Given the description of an element on the screen output the (x, y) to click on. 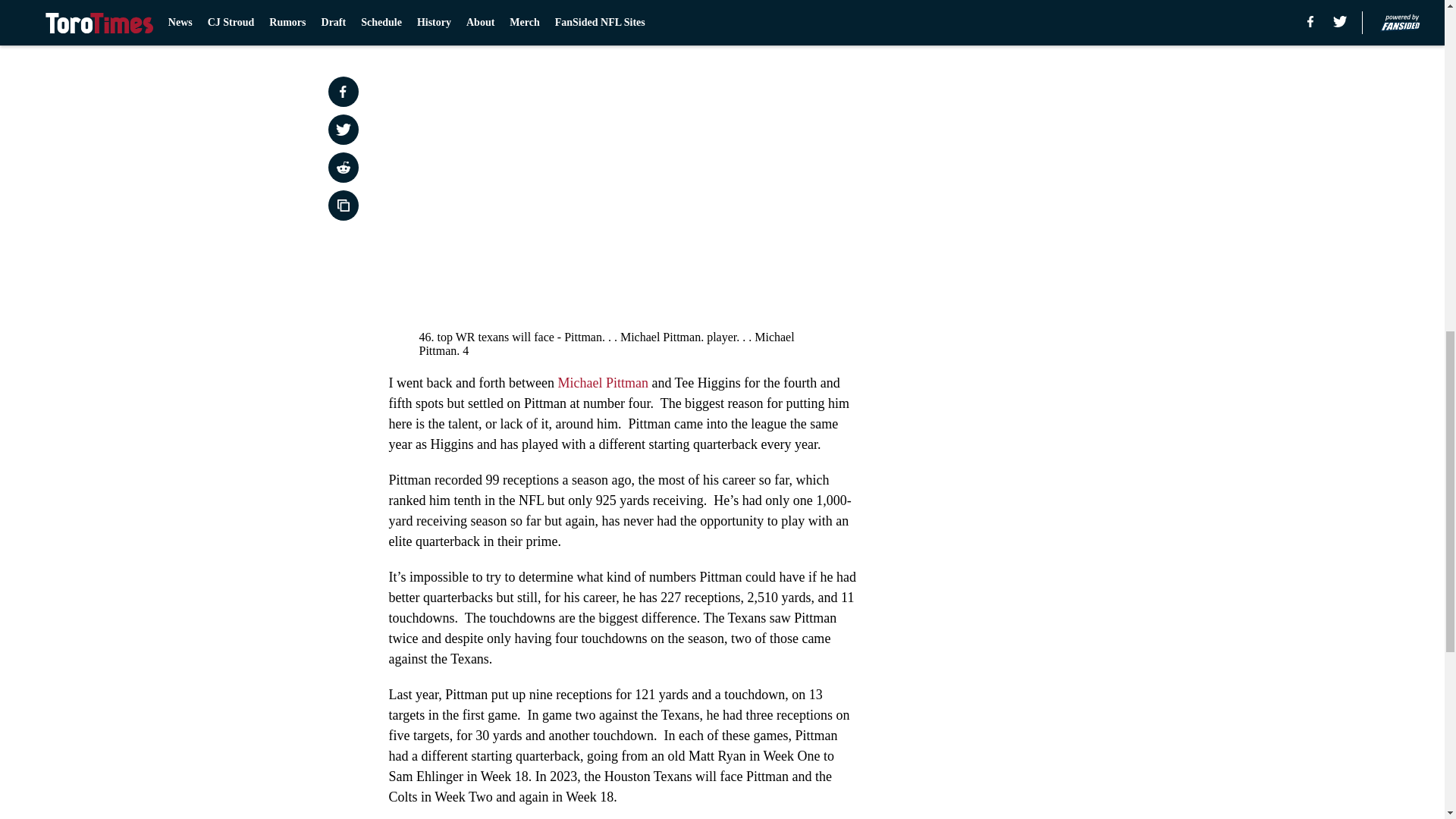
Next (813, 20)
Prev (433, 20)
Michael Pittman (602, 382)
